Given the description of an element on the screen output the (x, y) to click on. 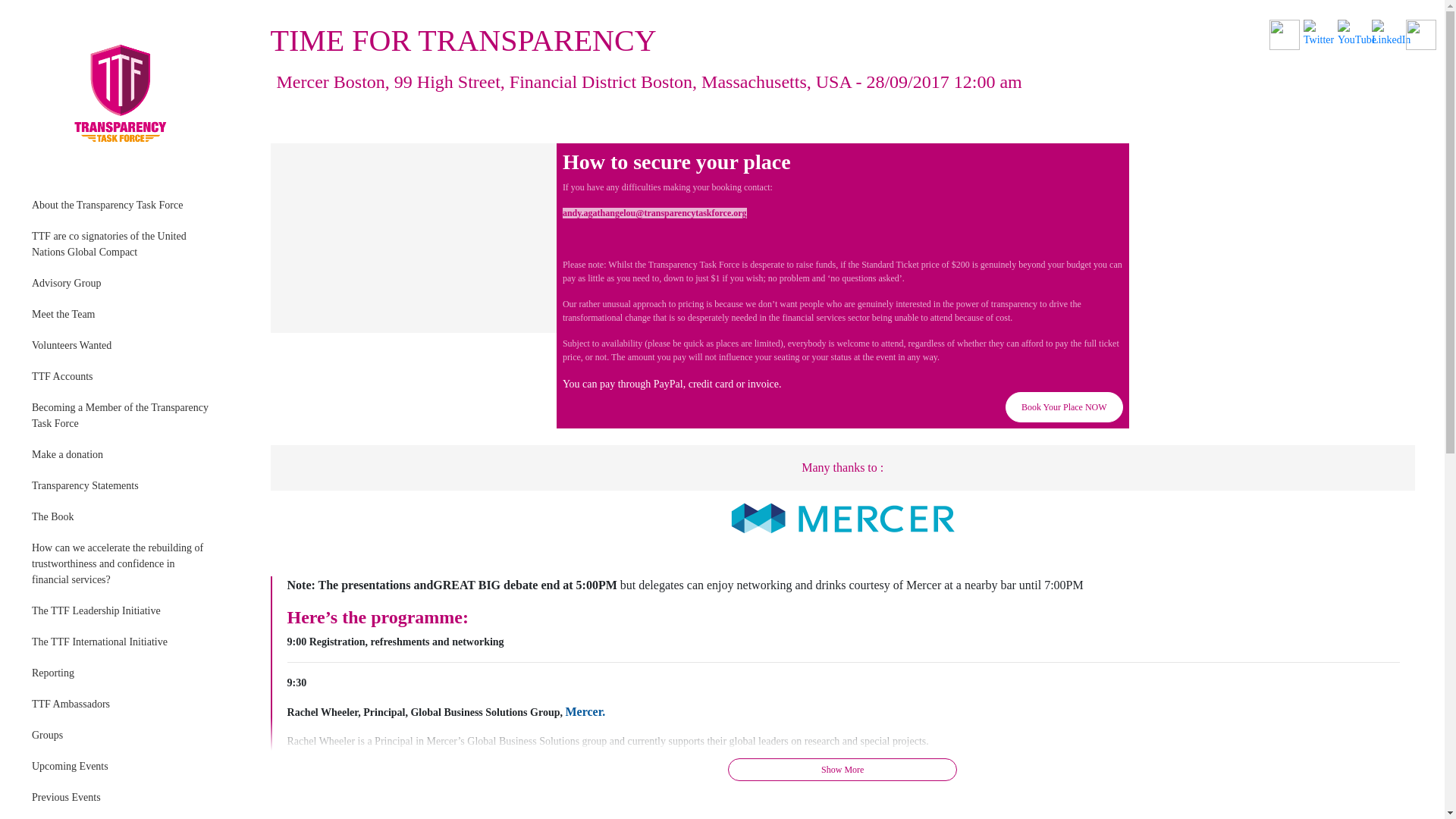
TTF Accounts (123, 376)
About the Transparency Task Force (123, 204)
Groups (123, 735)
Becoming a Member of the Transparency Task Force (123, 415)
The TTF International Initiative (123, 641)
The TTF Leadership Initiative (123, 610)
Volunteers Wanted (123, 345)
Make a donation (123, 454)
LinkedIn (1390, 33)
Reporting (123, 672)
